Given the description of an element on the screen output the (x, y) to click on. 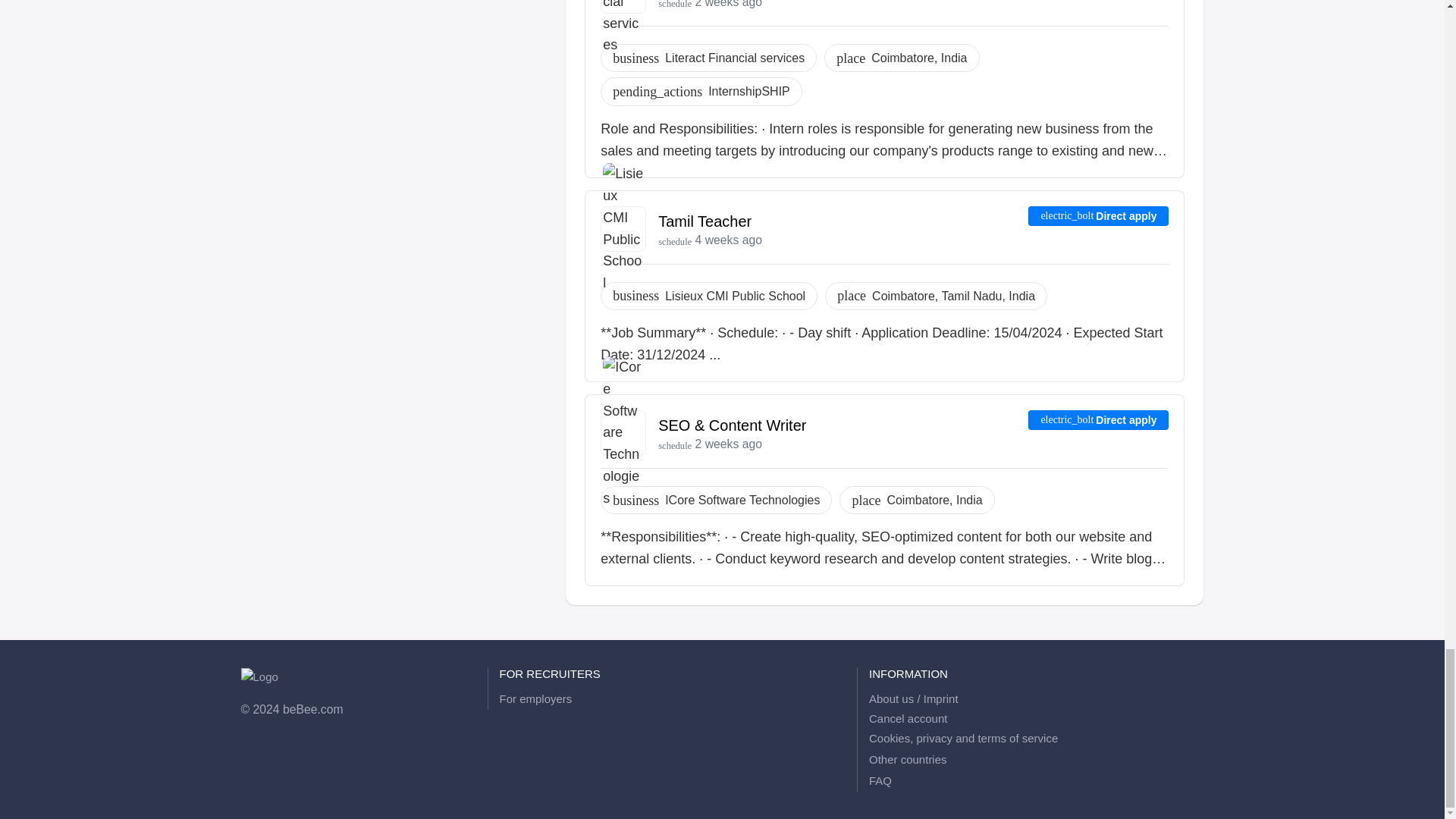
Tamil Teacher (704, 221)
Coimbatore, India (918, 57)
Tamil Teacher (704, 221)
Coimbatore, Tamil Nadu, India (953, 296)
